Given the description of an element on the screen output the (x, y) to click on. 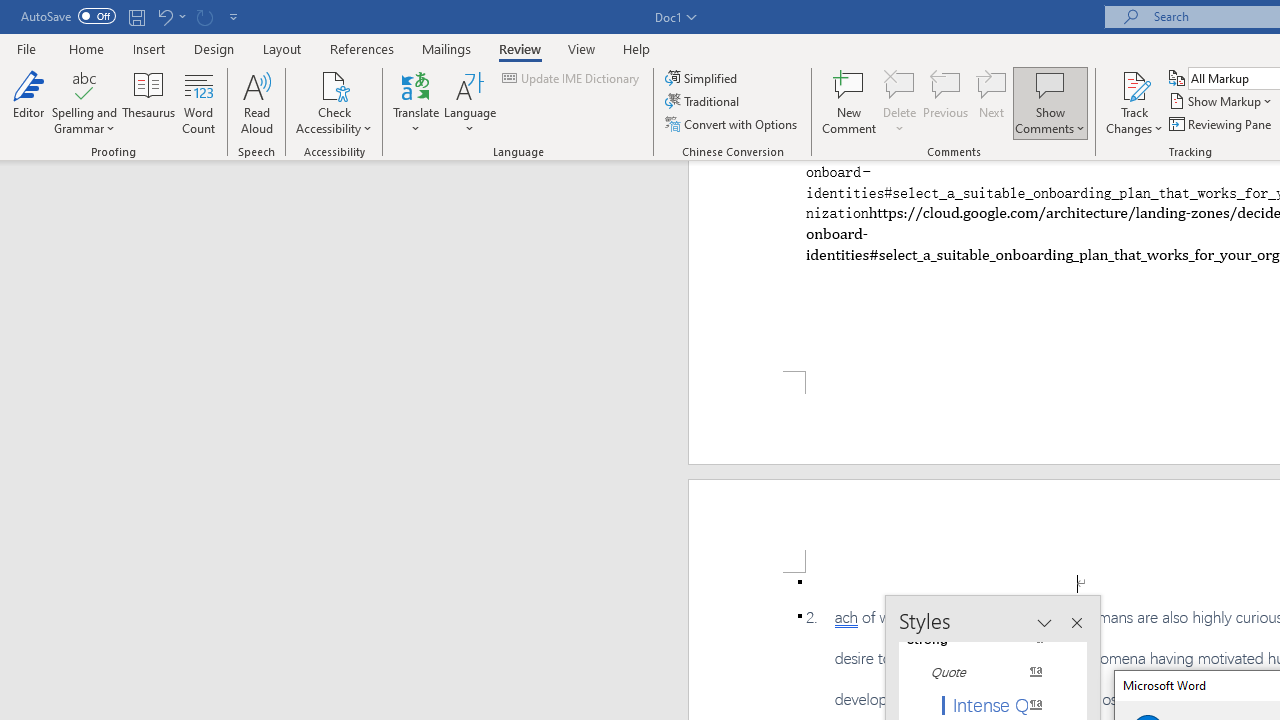
Thesaurus... (148, 102)
Delete (900, 84)
Check Accessibility (334, 102)
Check Accessibility (334, 84)
Show Comments (1050, 84)
Reviewing Pane (1221, 124)
Translate (415, 102)
